Given the description of an element on the screen output the (x, y) to click on. 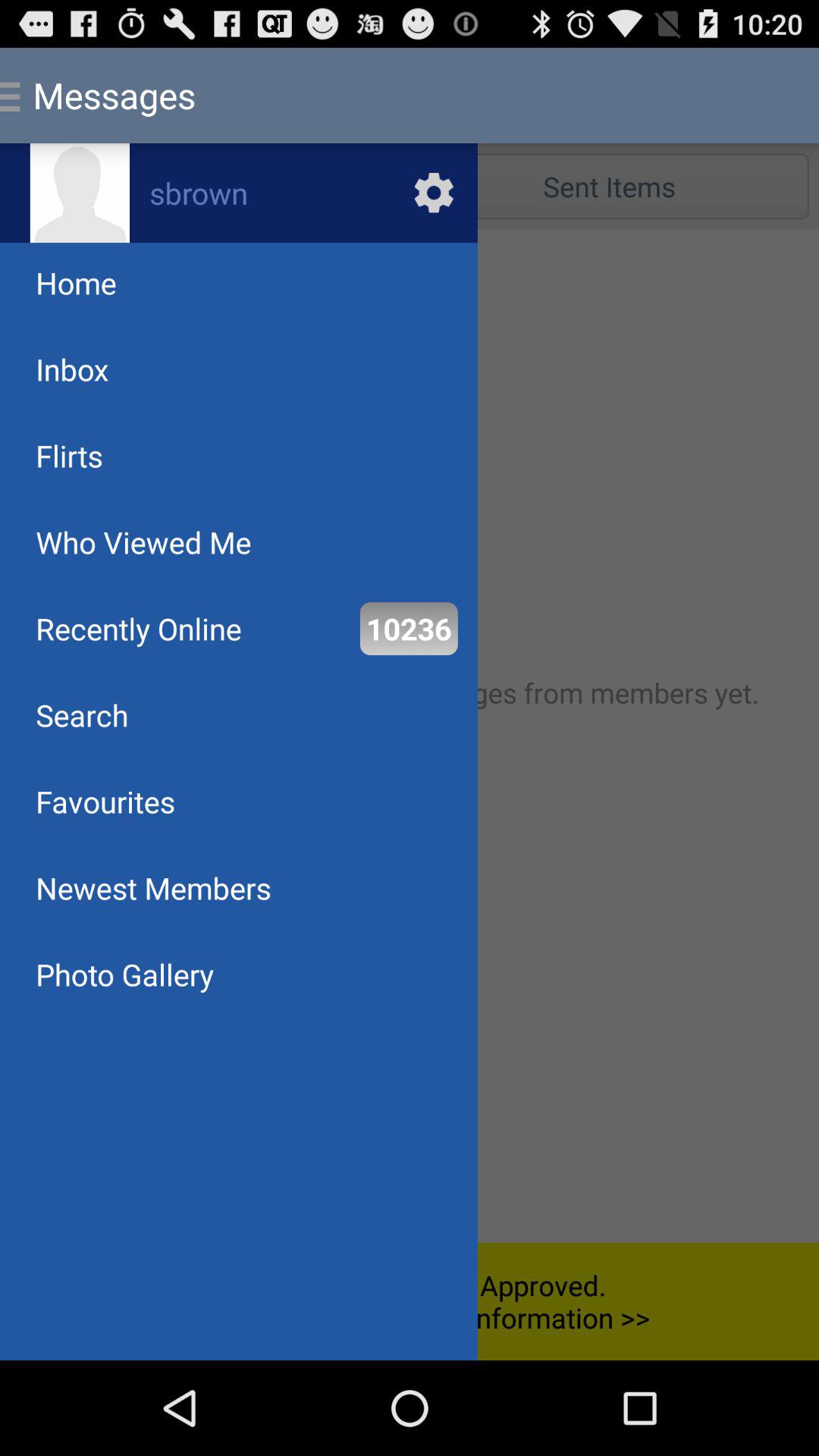
swipe to who viewed me icon (143, 542)
